Given the description of an element on the screen output the (x, y) to click on. 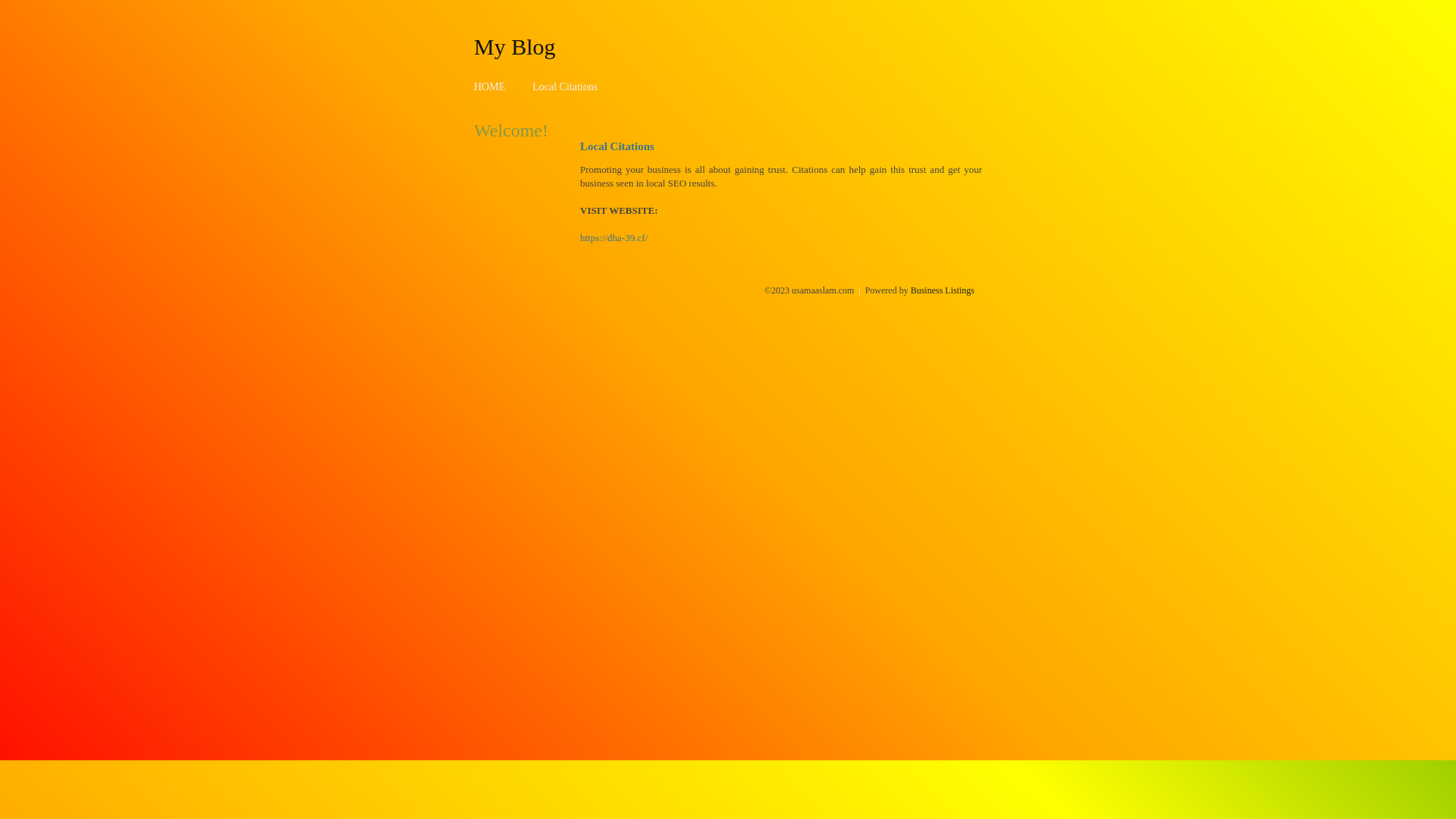
Local Citations Element type: text (564, 86)
My Blog Element type: text (514, 46)
HOME Element type: text (489, 86)
Business Listings Element type: text (942, 290)
https://dha-39.cf/ Element type: text (613, 237)
